Given the description of an element on the screen output the (x, y) to click on. 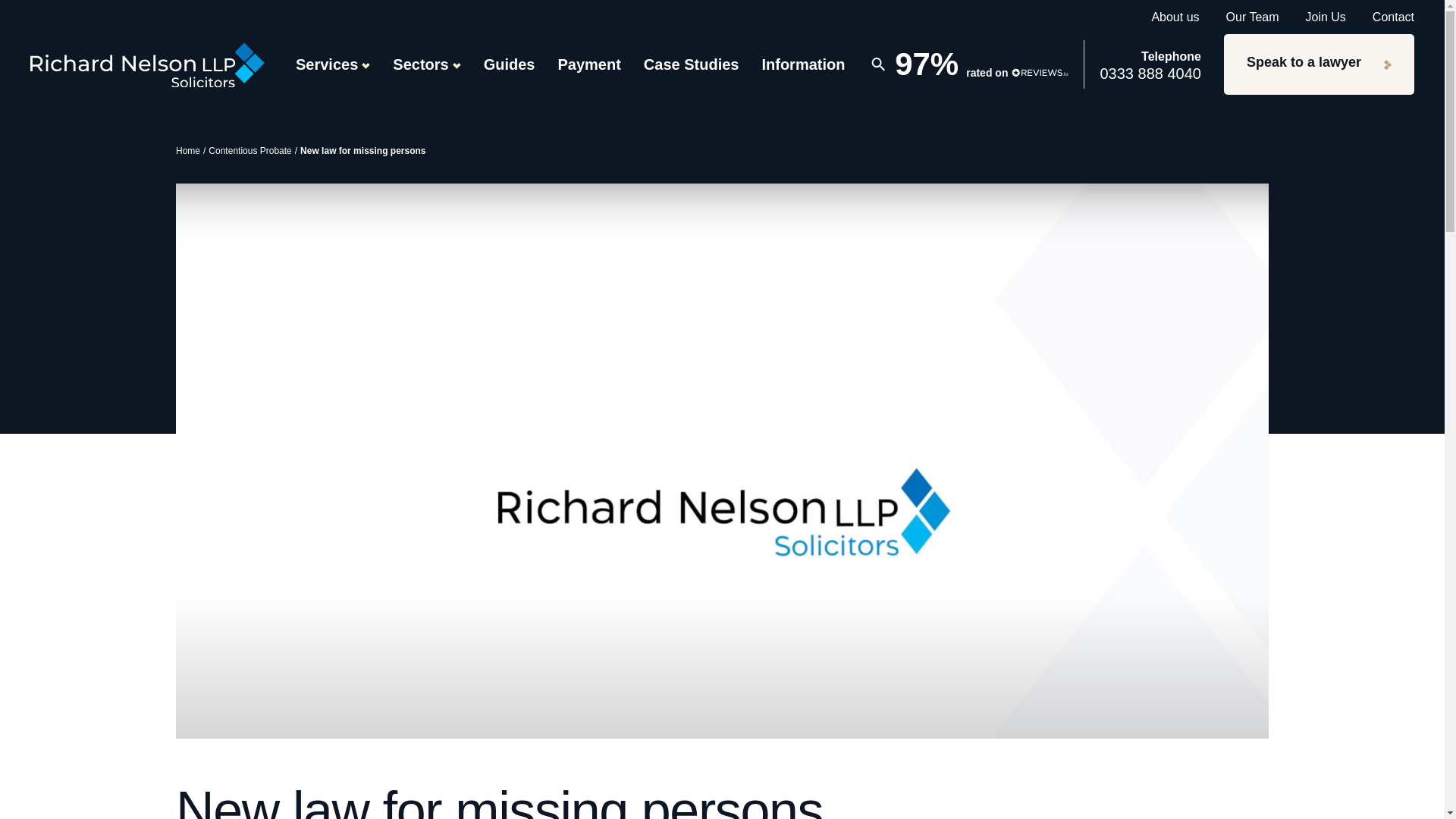
Sectors (426, 64)
Contact (1393, 16)
Our Team (1252, 16)
Join Us (1325, 16)
Services (332, 64)
About us (1174, 16)
